Given the description of an element on the screen output the (x, y) to click on. 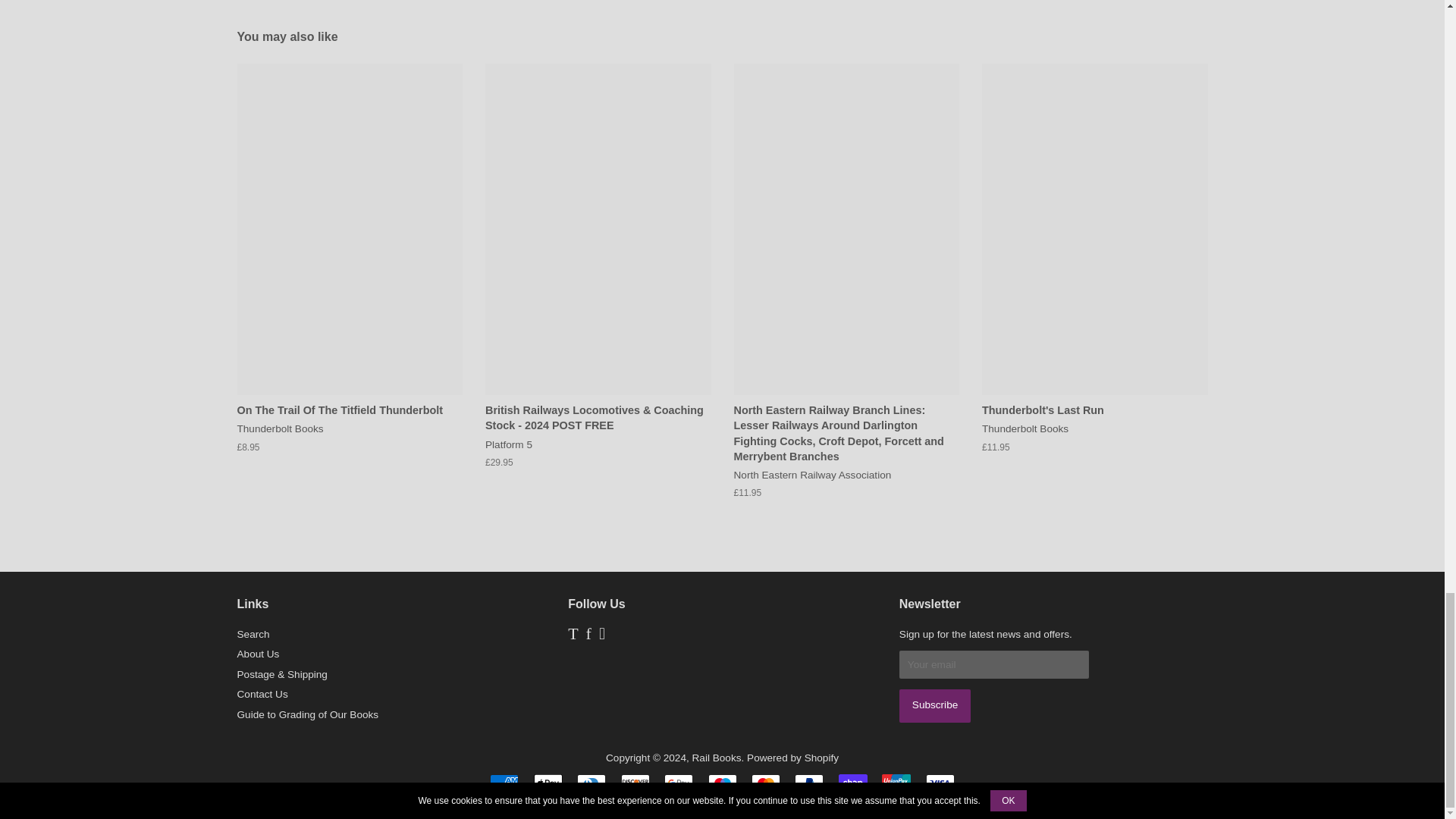
PayPal (809, 782)
Shop Pay (852, 782)
Mastercard (765, 782)
Google Pay (678, 782)
Union Pay (896, 782)
Apple Pay (548, 782)
Visa (940, 782)
Maestro (721, 782)
Discover (635, 782)
American Express (503, 782)
